Given the description of an element on the screen output the (x, y) to click on. 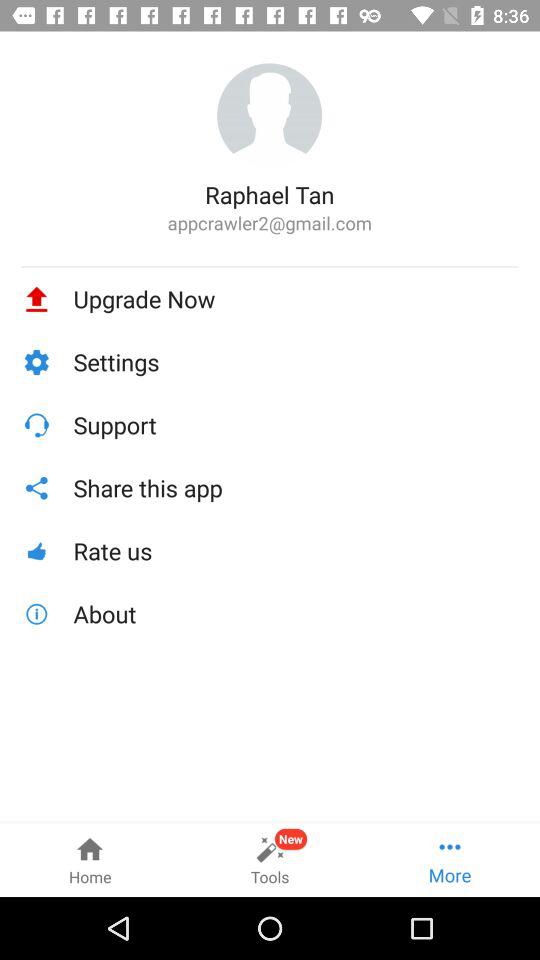
open the item below the raphael tan (269, 222)
